Given the description of an element on the screen output the (x, y) to click on. 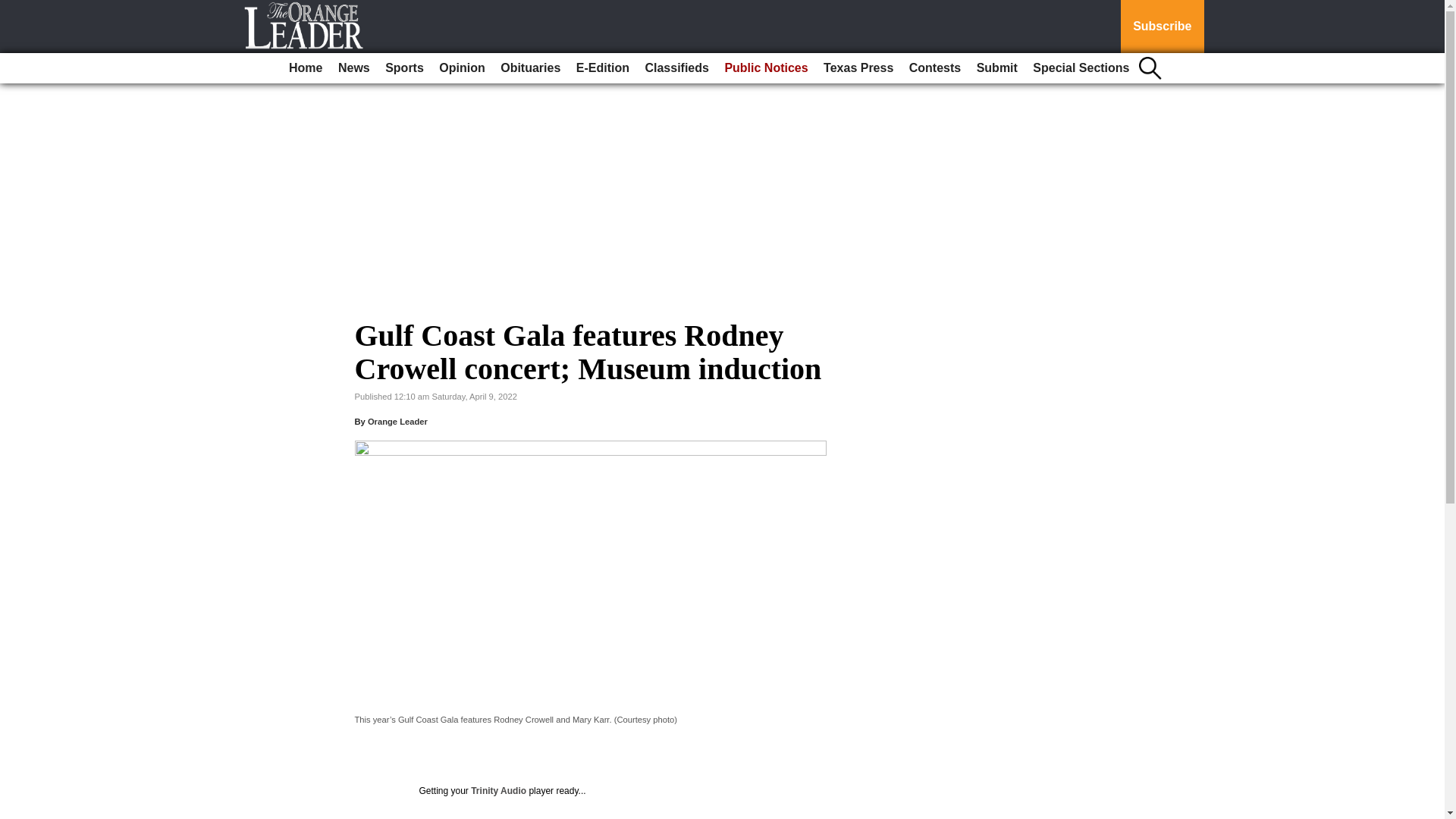
News (353, 68)
Sports (403, 68)
Texas Press (857, 68)
Classifieds (676, 68)
Opinion (461, 68)
Public Notices (765, 68)
Special Sections (1080, 68)
Contests (934, 68)
Submit (997, 68)
Trinity Audio (497, 790)
Go (13, 9)
Orange Leader (398, 420)
Obituaries (530, 68)
Subscribe (1162, 26)
Home (305, 68)
